Given the description of an element on the screen output the (x, y) to click on. 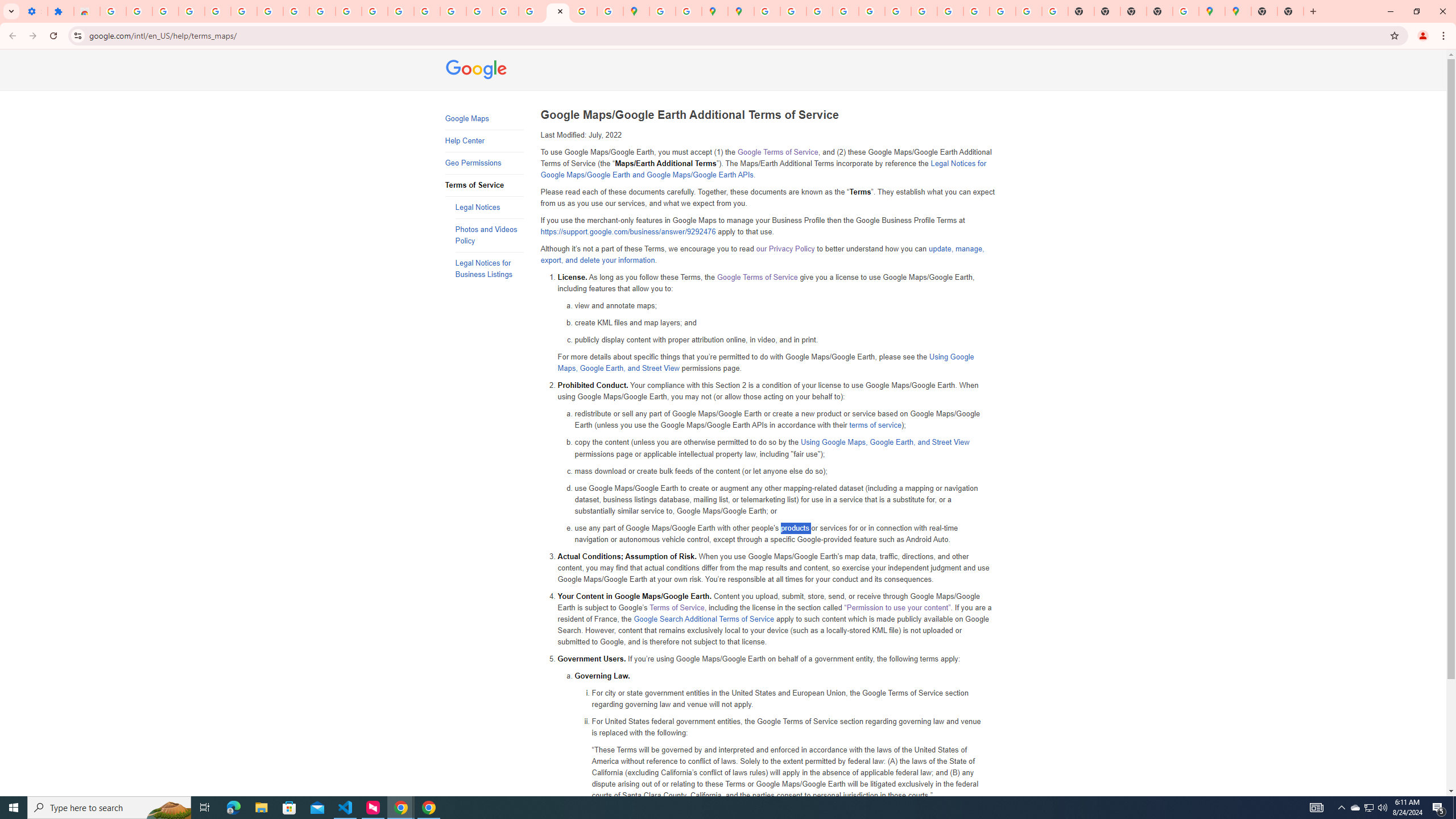
Photos and Videos Policy (489, 235)
Extensions (60, 11)
Google Maps (1211, 11)
Sign in - Google Accounts (663, 11)
Reviews: Helix Fruit Jump Arcade Game (86, 11)
Privacy Help Center - Policies Help (453, 11)
Terms of Service (676, 606)
our Privacy Policy (785, 248)
terms of service (874, 424)
